Given the description of an element on the screen output the (x, y) to click on. 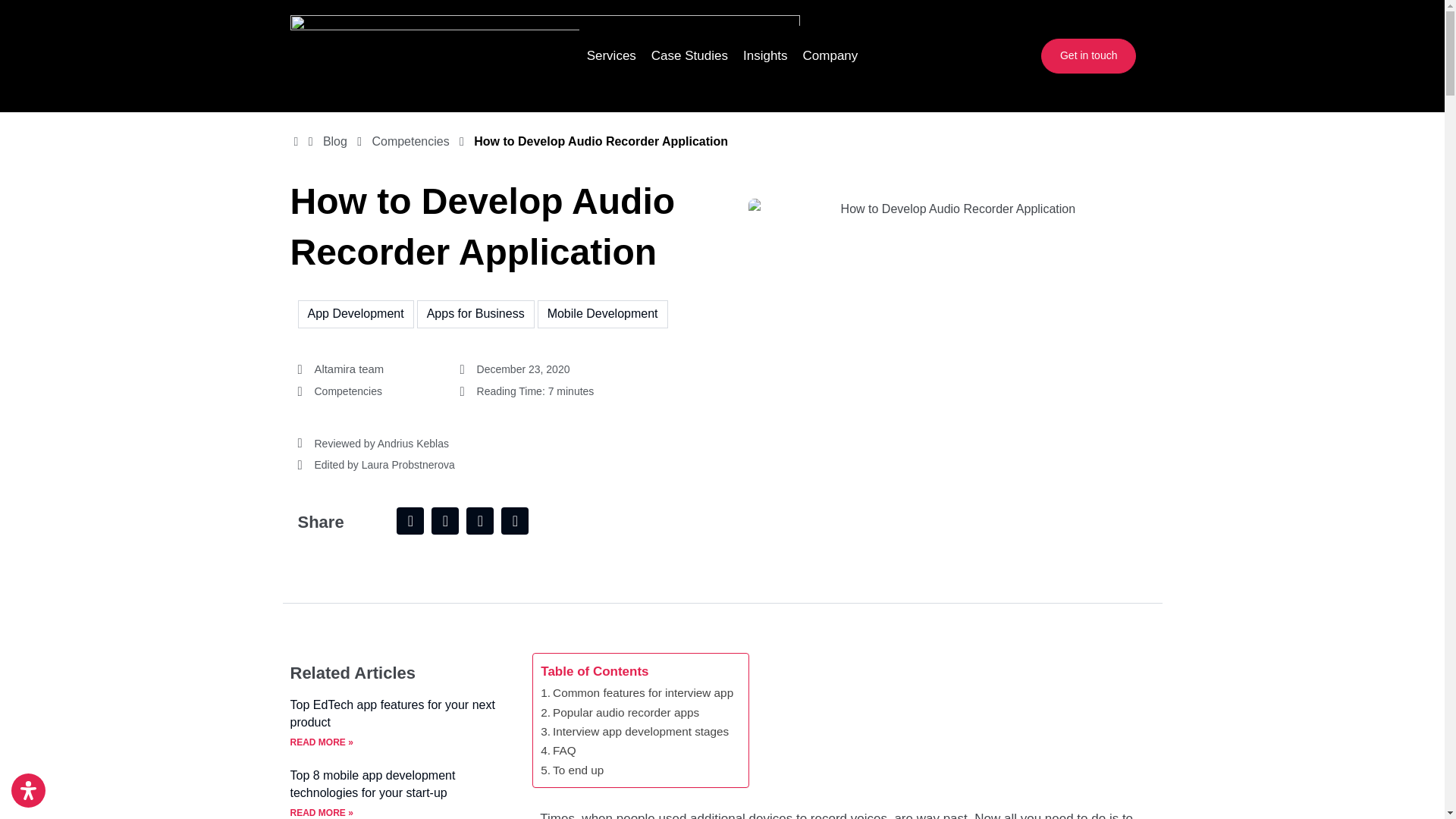
FAQ (557, 750)
Common features for interview app (636, 692)
Popular audio recorder apps (619, 711)
Services (611, 55)
Accessibility (28, 790)
Interview app development stages (634, 731)
To end up (572, 769)
